Given the description of an element on the screen output the (x, y) to click on. 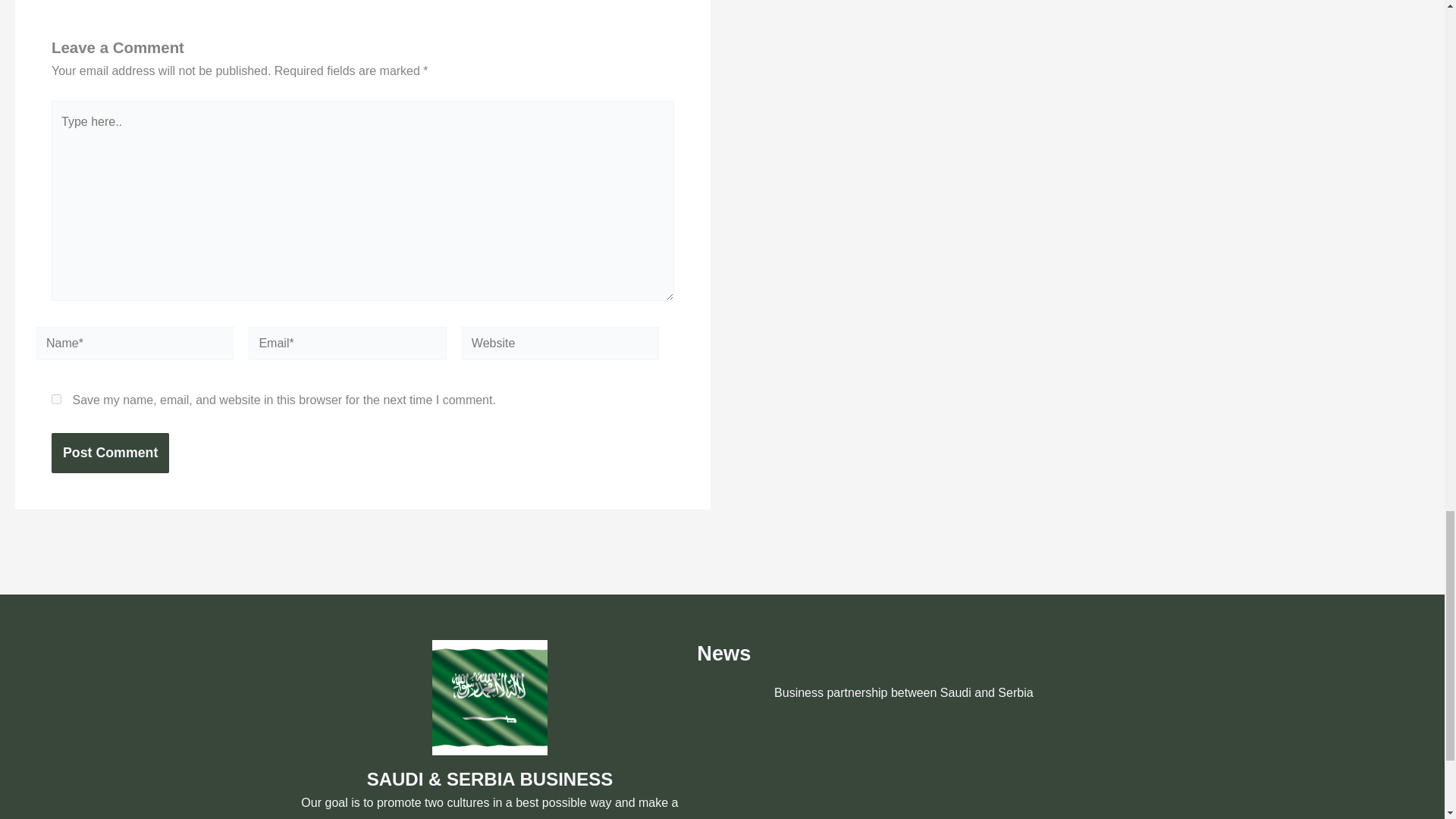
Post Comment (109, 452)
yes (55, 398)
Post Comment (109, 452)
